Given the description of an element on the screen output the (x, y) to click on. 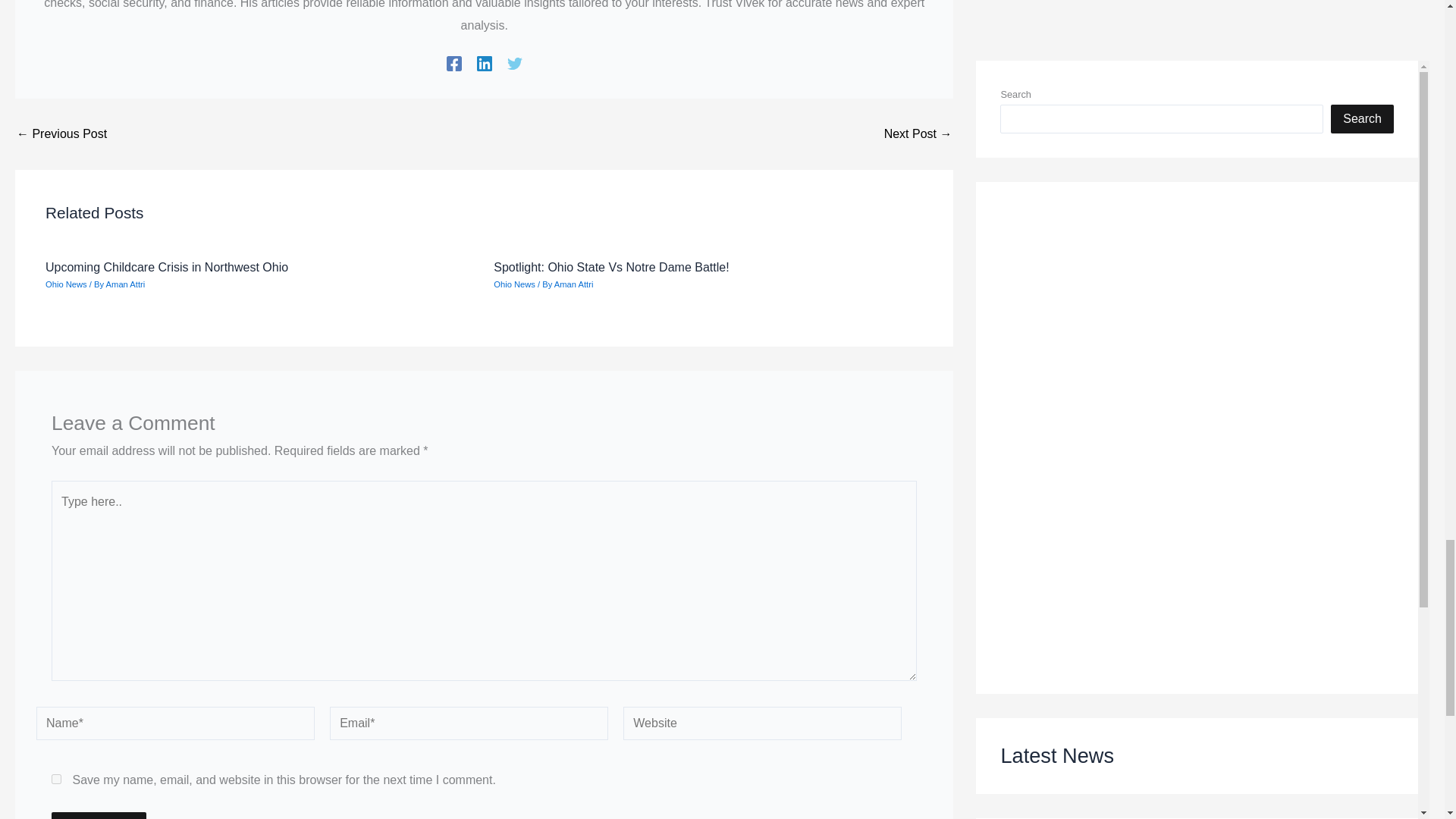
View all posts by Aman Attri (574, 284)
King Charles Ascends, Harry's Role Questioned (61, 133)
yes (55, 778)
View all posts by Aman Attri (125, 284)
Eradicating Medical Debt: L.A. County's Groundbreaking Plan (917, 133)
